Given the description of an element on the screen output the (x, y) to click on. 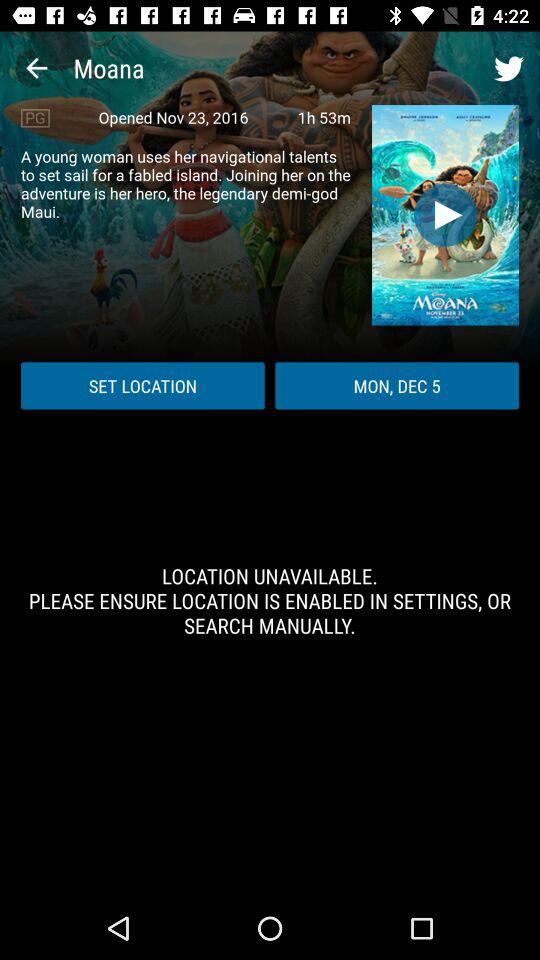
launch icon below pg icon (185, 183)
